Given the description of an element on the screen output the (x, y) to click on. 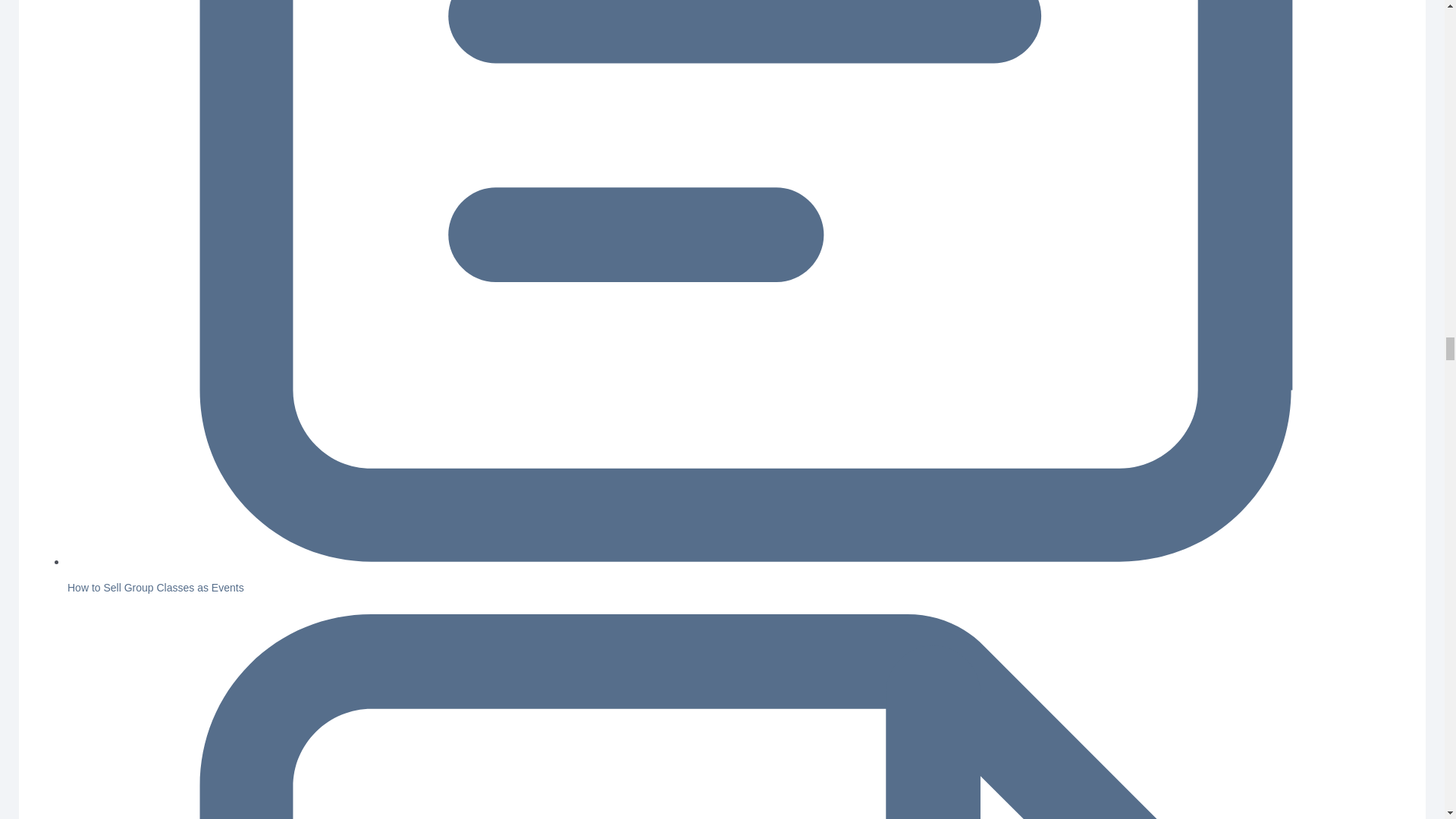
How to Sell Group Classes as Events (155, 587)
